Given the description of an element on the screen output the (x, y) to click on. 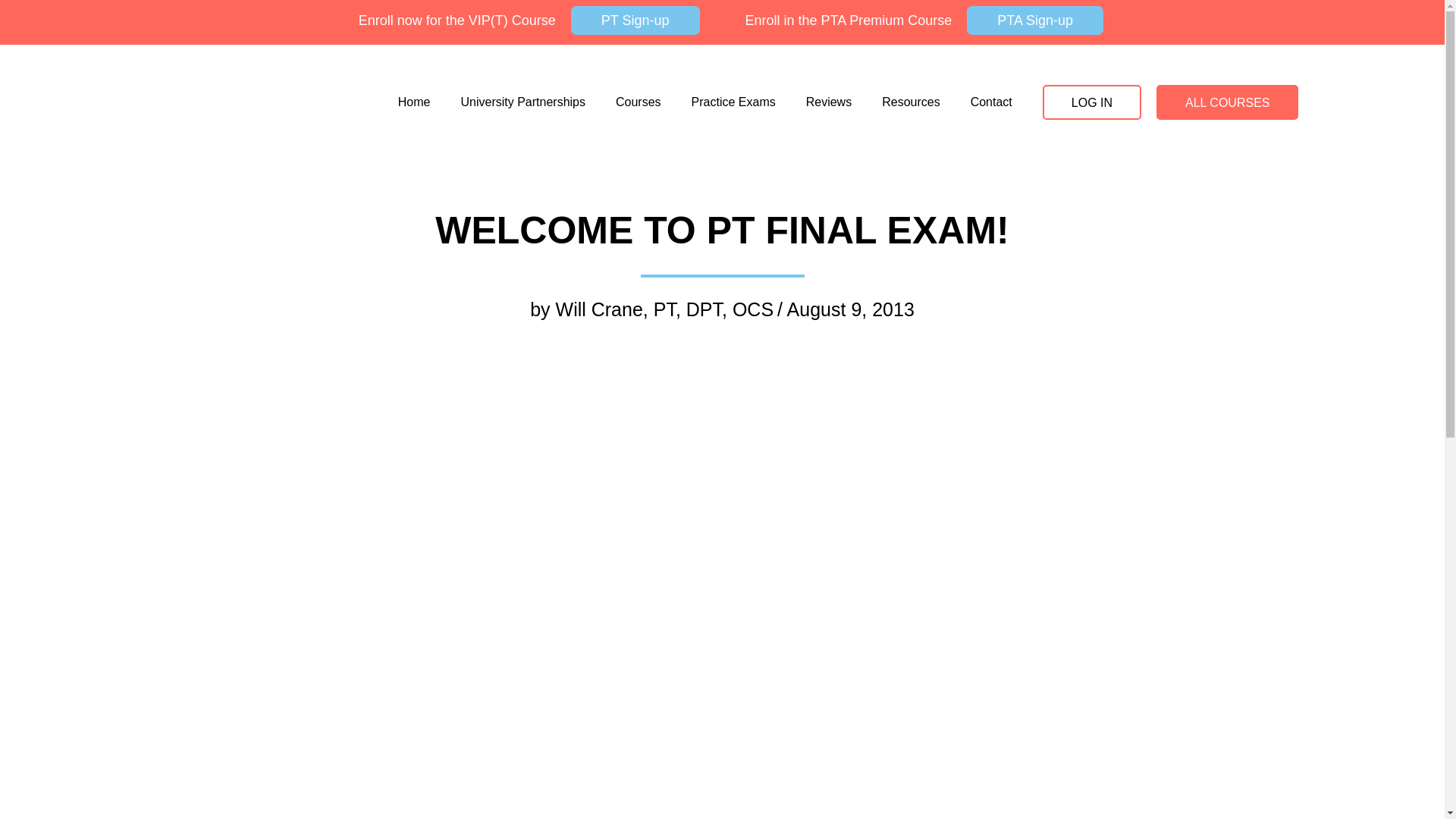
Practice Exams (733, 102)
Home (413, 102)
Courses (638, 102)
LOG IN (1091, 102)
Reviews (828, 102)
PT Sign-up (635, 20)
Contact (991, 102)
University Partnerships (522, 102)
ALL COURSES (1227, 102)
Resources (910, 102)
PTA Sign-up (1034, 20)
